Given the description of an element on the screen output the (x, y) to click on. 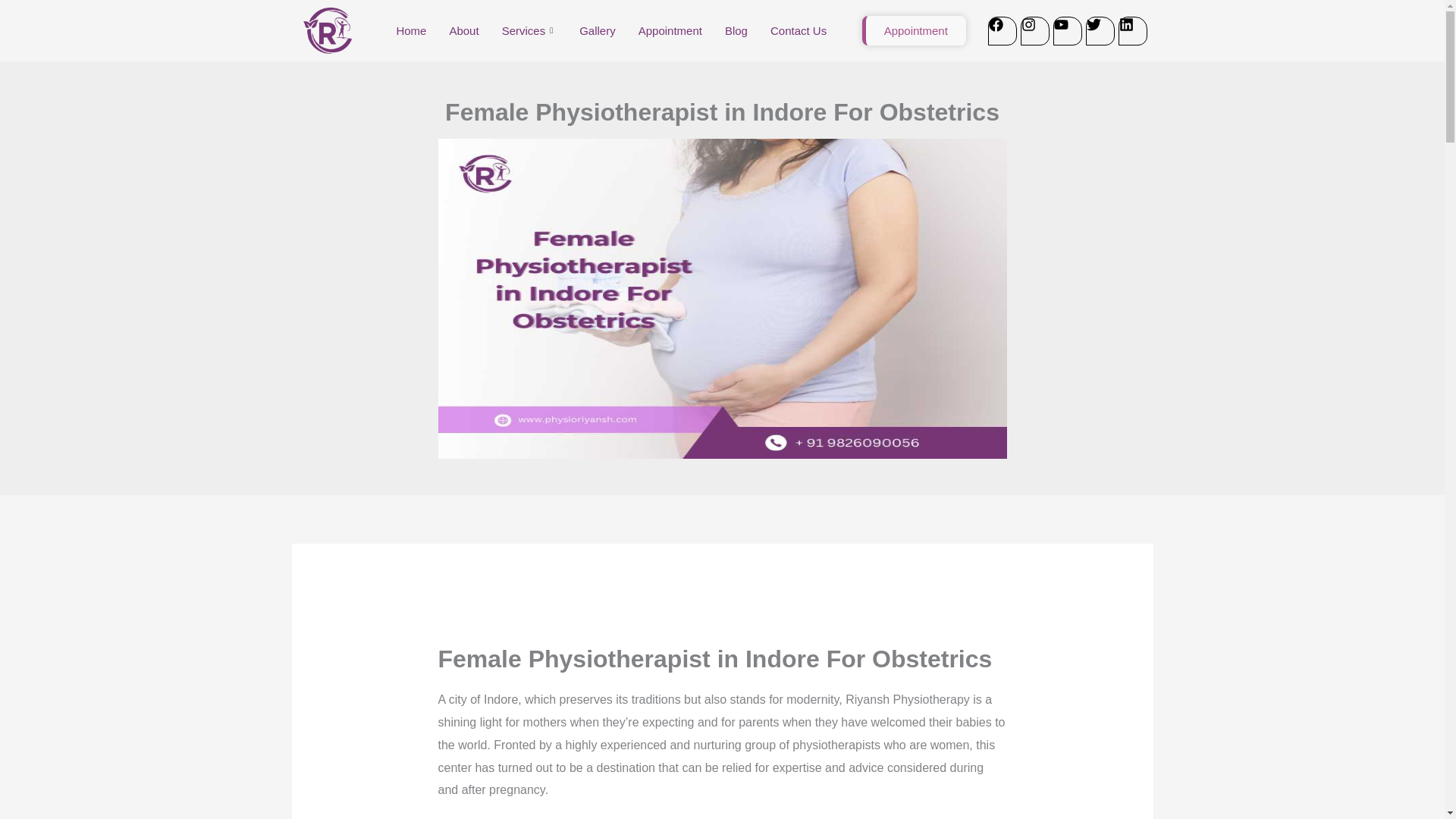
Appointment (913, 30)
Twitter (1100, 30)
Contact Us (798, 31)
Facebook (1001, 30)
Home (411, 31)
Linkedin (1132, 30)
Appointment (670, 31)
Blog (735, 31)
About (463, 31)
Youtube (1066, 30)
